Given the description of an element on the screen output the (x, y) to click on. 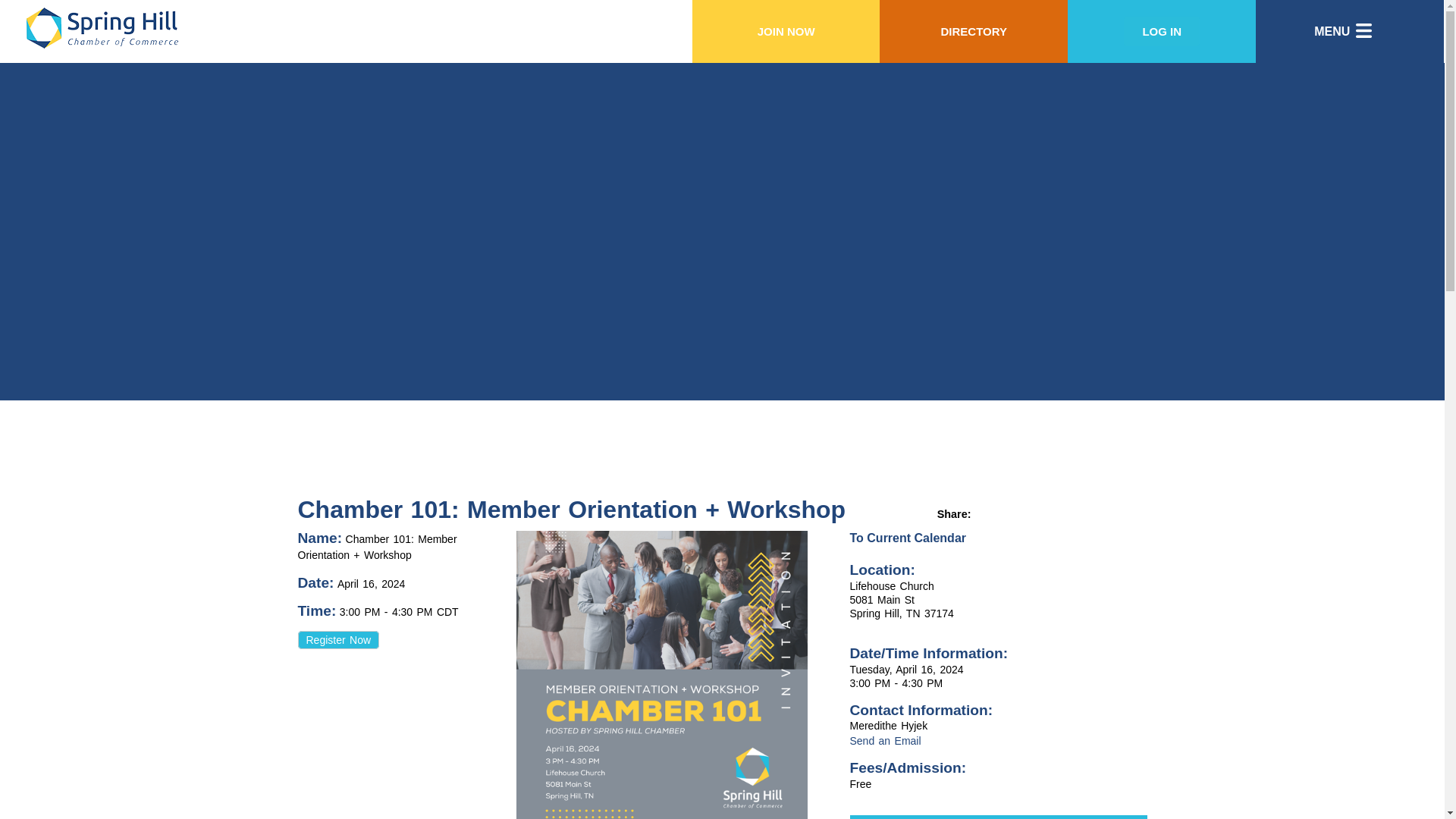
Share on Facebook (1068, 512)
Share on LinkedIn (1111, 512)
Share on Twitter (1090, 512)
JOIN NOW (786, 30)
Share on Pinterest (1132, 512)
View Current Weather (1048, 512)
LOG IN (1161, 30)
Email to a Friend (1004, 512)
DIRECTORY (974, 30)
Print this Page (983, 512)
